Given the description of an element on the screen output the (x, y) to click on. 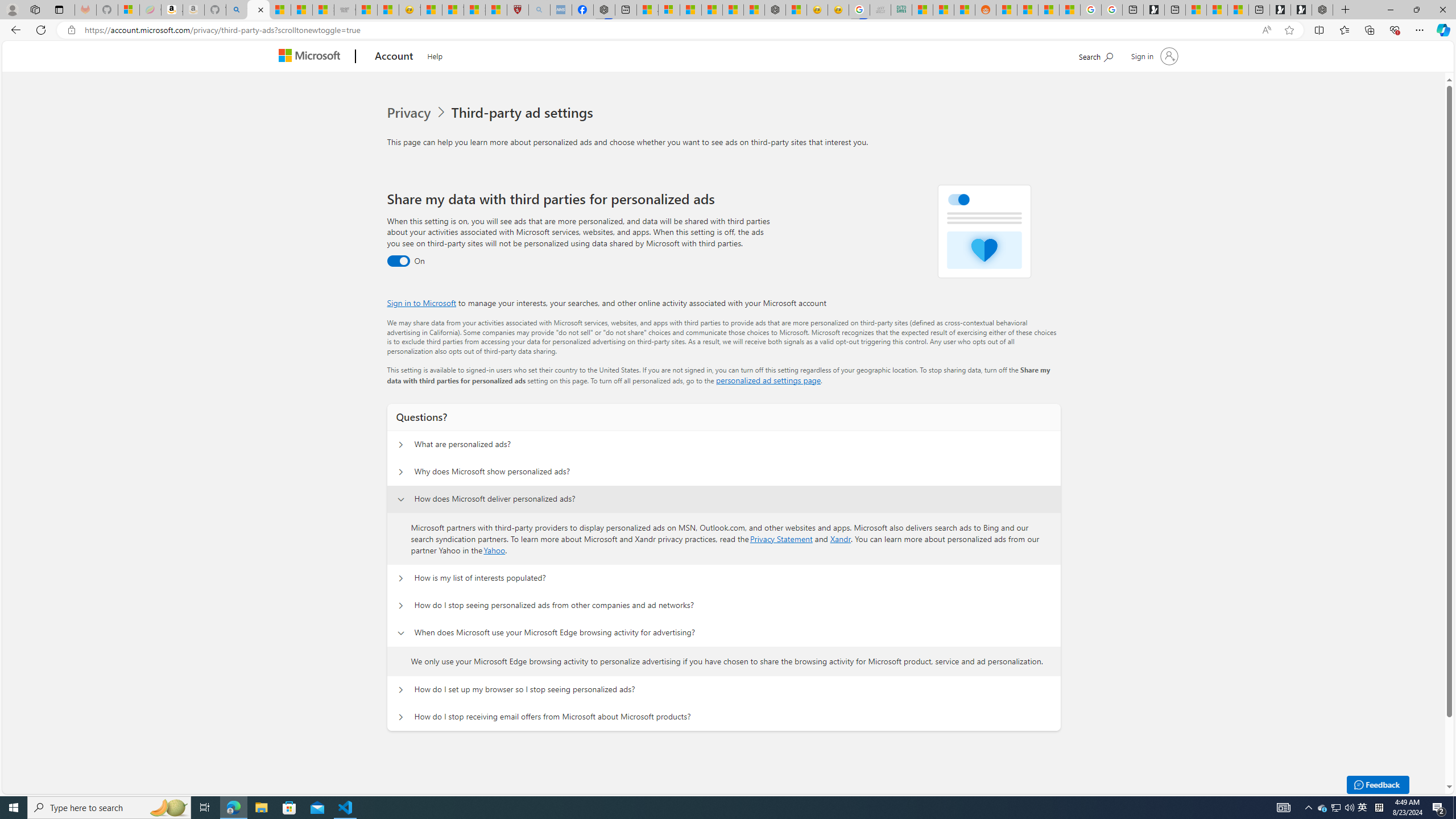
Recipes - MSN (431, 9)
